Given the description of an element on the screen output the (x, y) to click on. 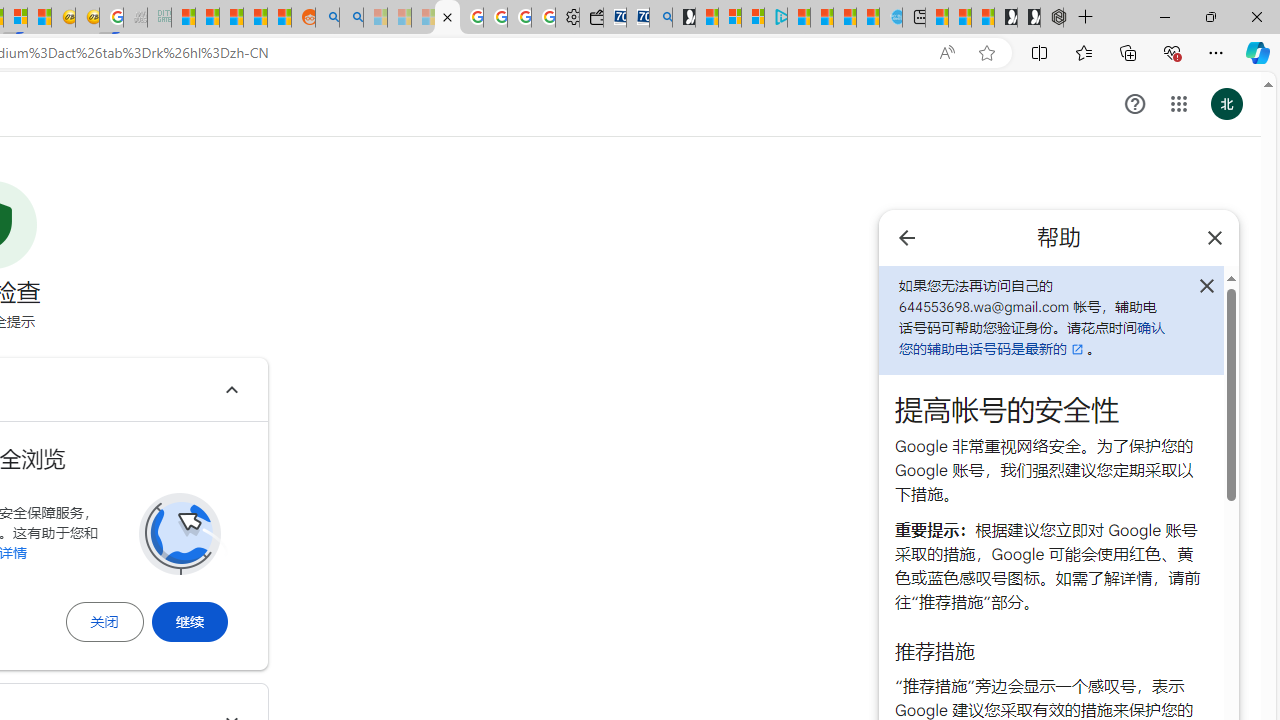
Navy Quest (135, 17)
Play Free Online Games | Games from Microsoft Start (1028, 17)
